Given the description of an element on the screen output the (x, y) to click on. 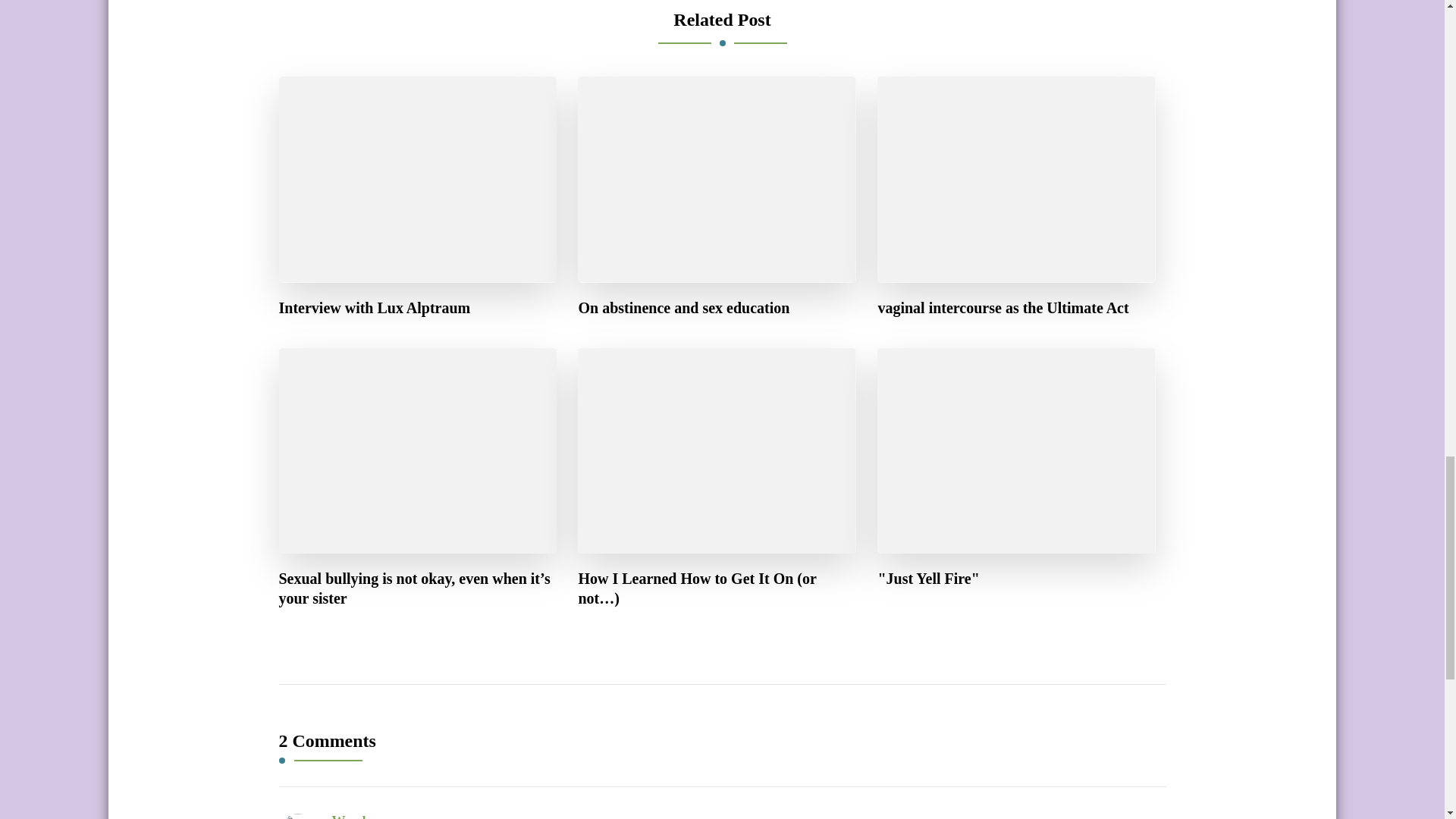
Interview with Lux Alptraum (374, 307)
vaginal intercourse as the Ultimate Act (1002, 307)
On abstinence and sex education (683, 307)
